Given the description of an element on the screen output the (x, y) to click on. 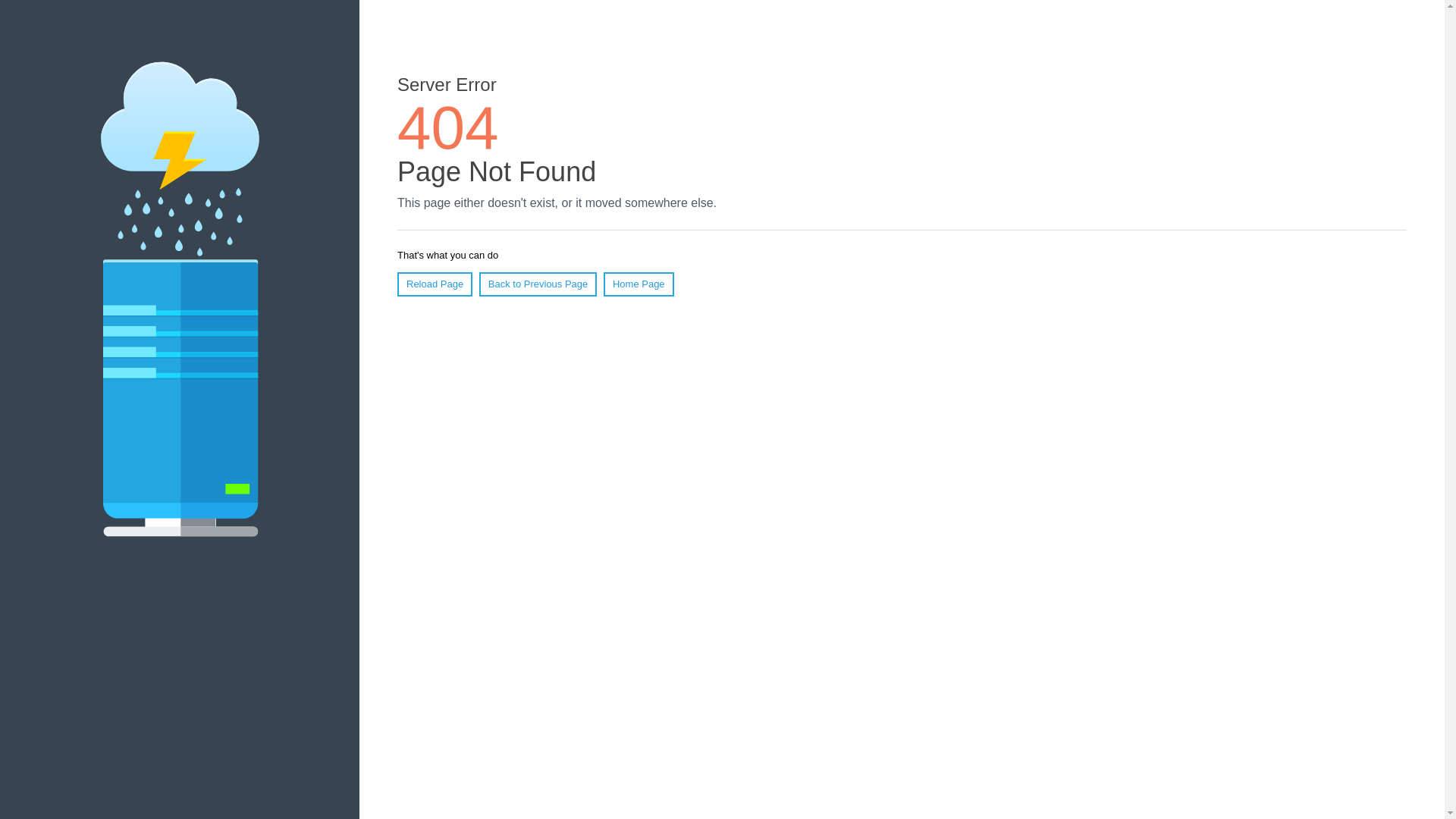
Home Page Element type: text (638, 284)
Back to Previous Page Element type: text (538, 284)
Reload Page Element type: text (434, 284)
